Given the description of an element on the screen output the (x, y) to click on. 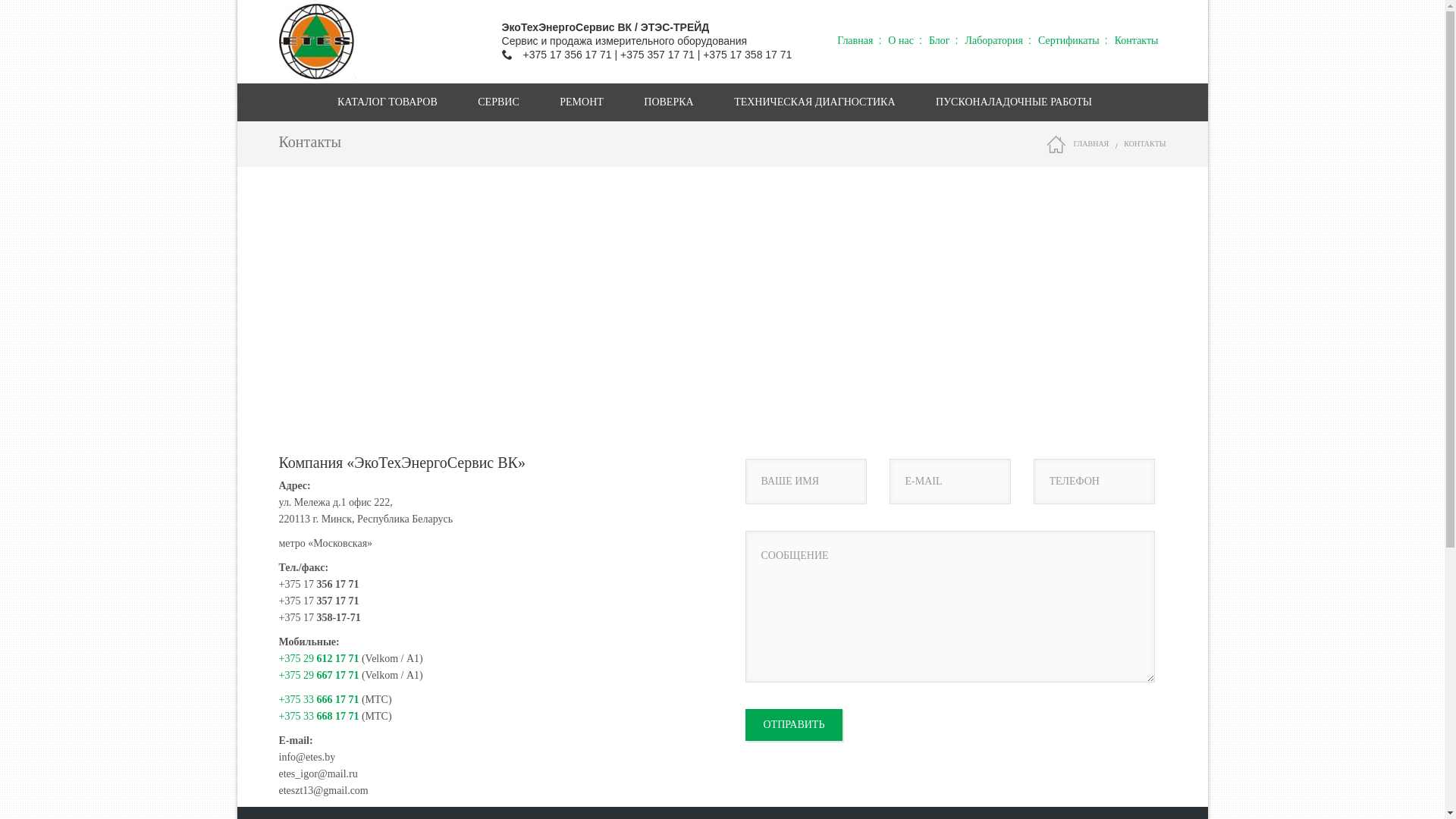
+375 33 666 17 71 Element type: text (319, 699)
+375 33 668 17 71 Element type: text (319, 715)
+375 29 612 17 71 Element type: text (319, 658)
+375 29 667 17 71 Element type: text (319, 674)
